Given the description of an element on the screen output the (x, y) to click on. 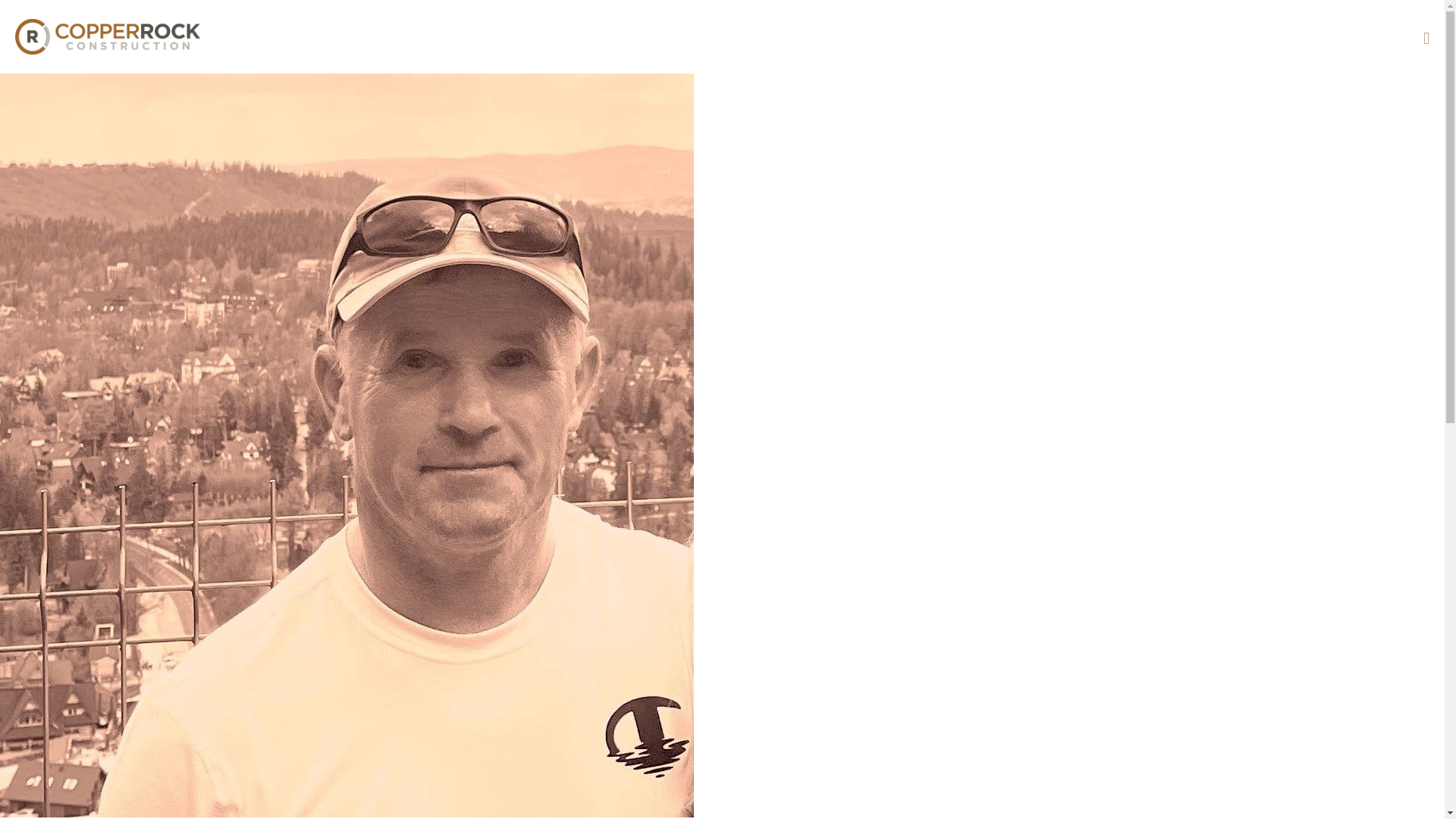
CONTACT (1237, 36)
CAREERS (1351, 36)
PROJECTS (888, 36)
EXPERIENCE (758, 36)
SERVICES (1005, 36)
IDENTITY (1122, 36)
